Given the description of an element on the screen output the (x, y) to click on. 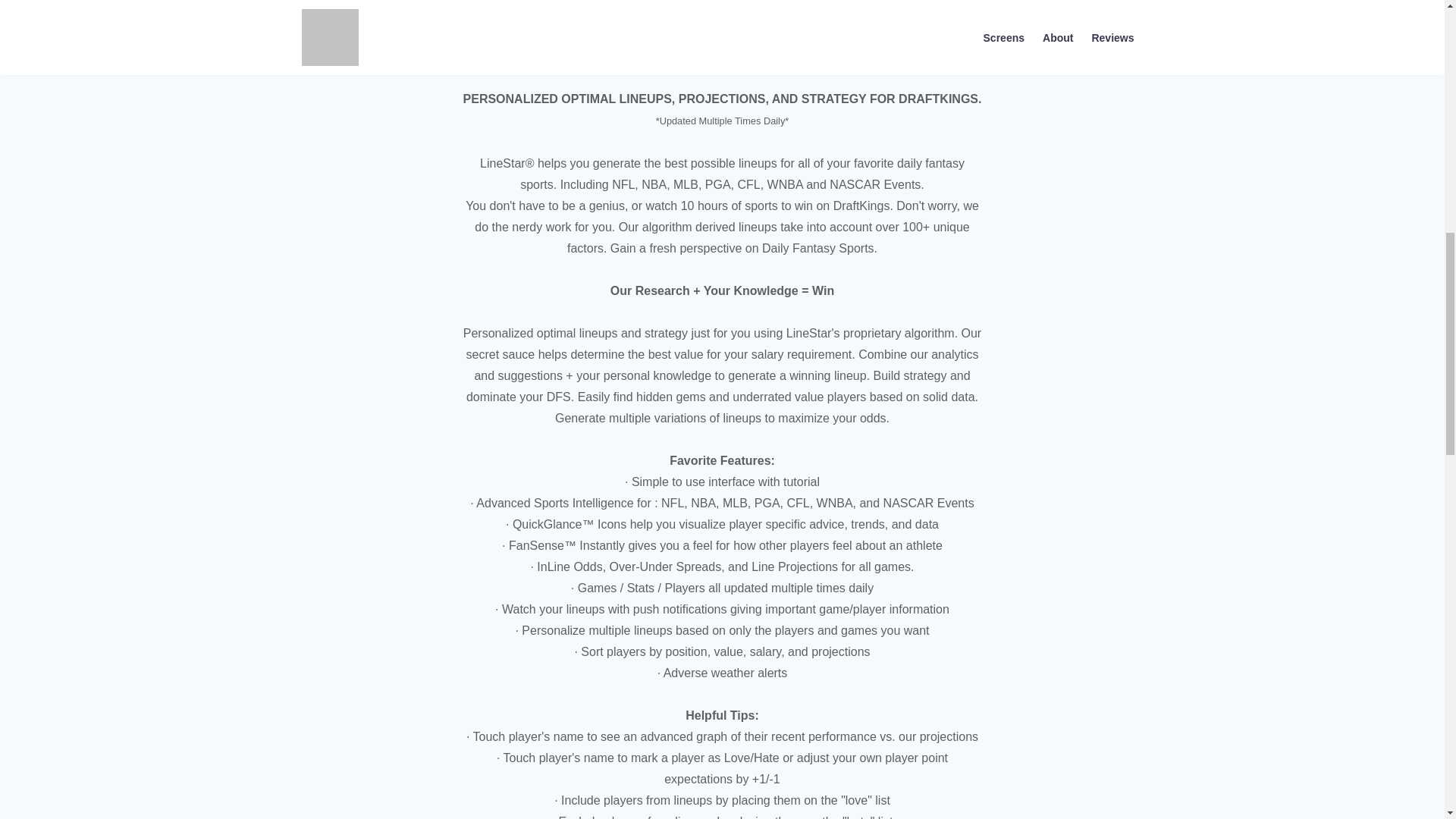
AppPage.net (956, 4)
